Given the description of an element on the screen output the (x, y) to click on. 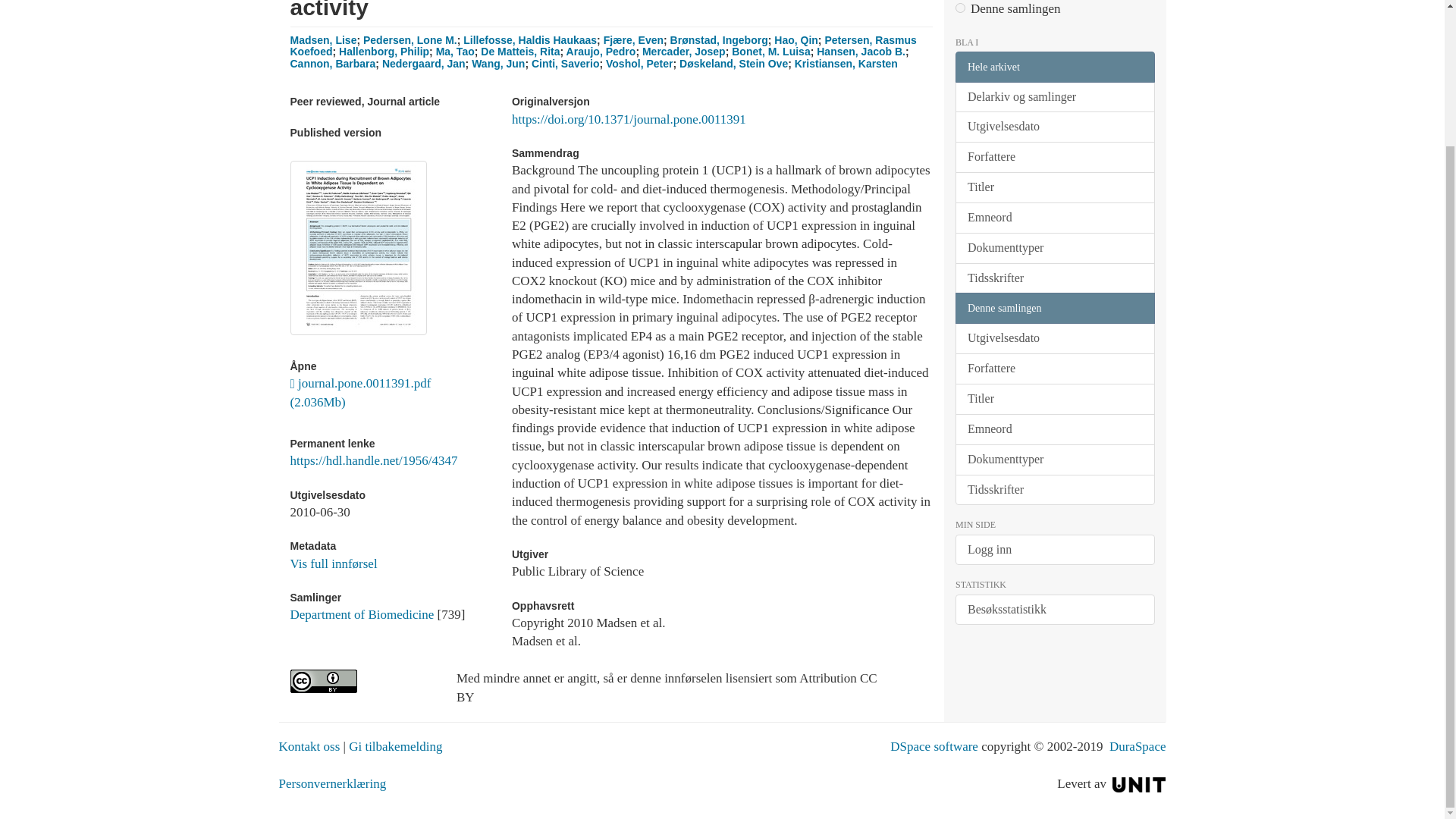
Hallenborg, Philip (384, 51)
Voshol, Peter (638, 63)
Unit (1139, 783)
Wang, Jun (497, 63)
Petersen, Rasmus Koefoed (602, 45)
Pedersen, Lone M. (409, 39)
Cinti, Saverio (564, 63)
Madsen, Lise (322, 39)
De Matteis, Rita (519, 51)
Nedergaard, Jan (423, 63)
